Given the description of an element on the screen output the (x, y) to click on. 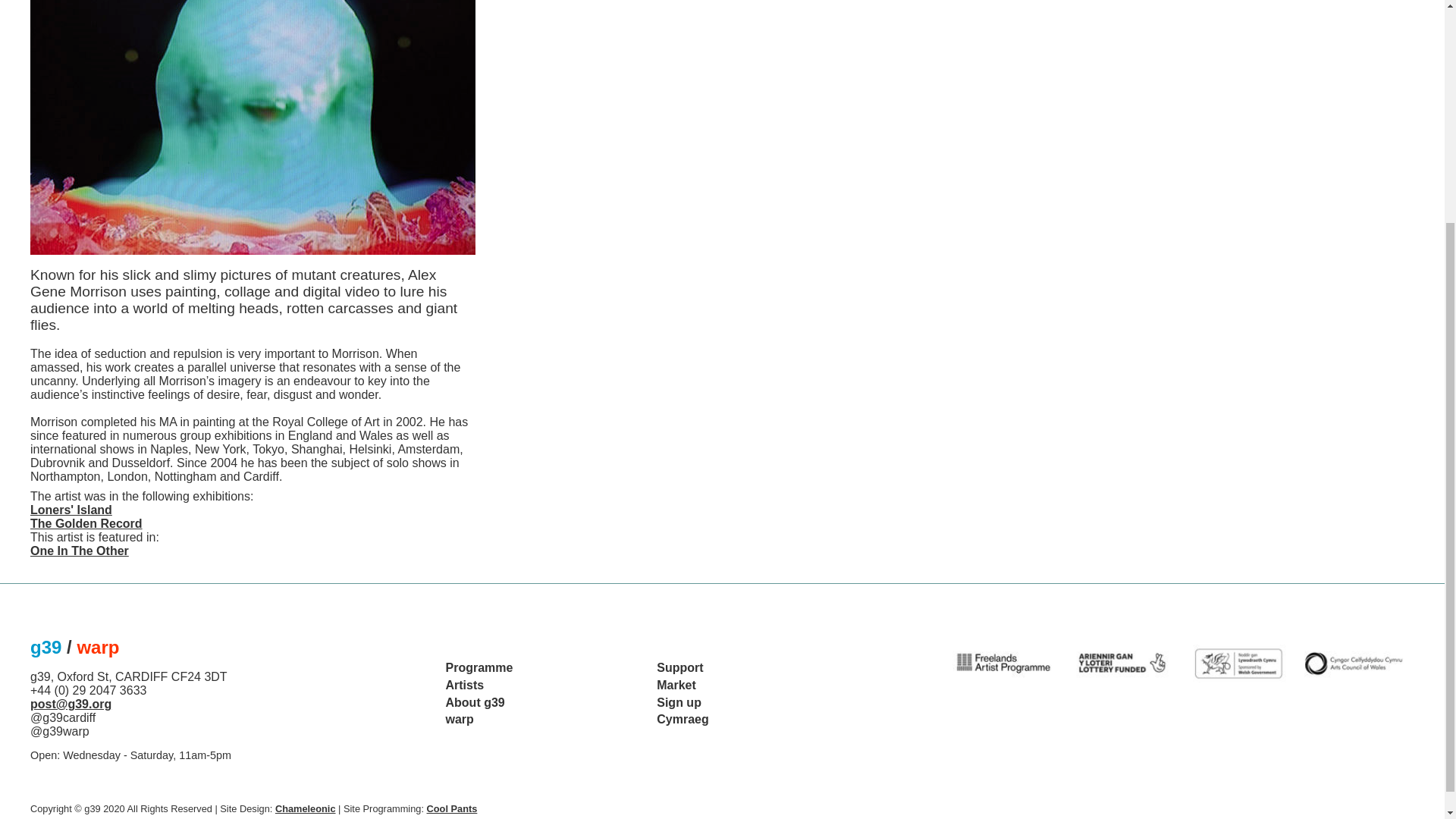
Market (675, 684)
Sign up (678, 702)
The Golden Record (86, 522)
About g39 (475, 702)
One In The Other (79, 550)
Artists (464, 684)
Loners' Island (71, 509)
Cool Pants (451, 808)
Programme (479, 667)
warp (459, 718)
